Given the description of an element on the screen output the (x, y) to click on. 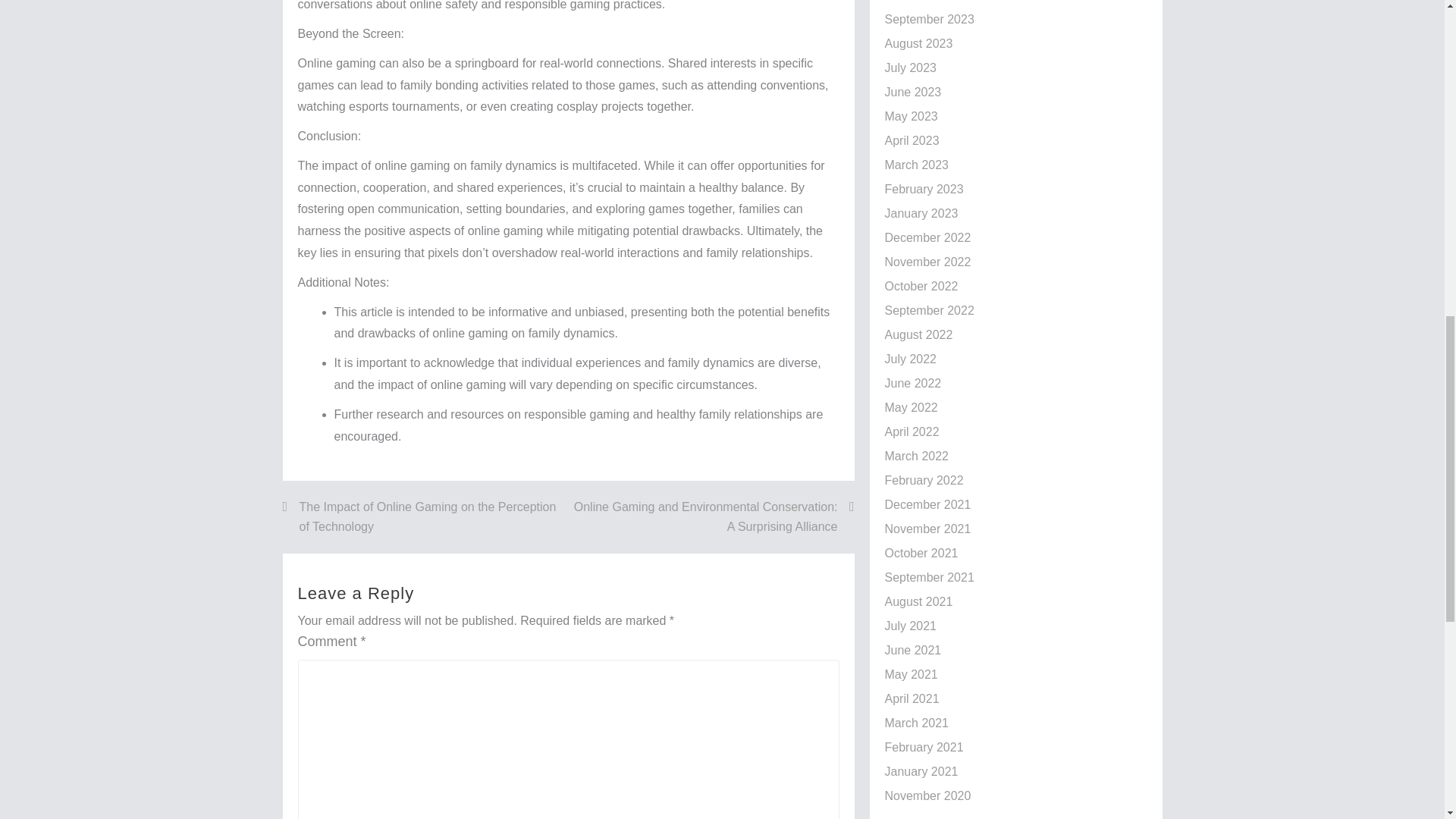
April 2023 (911, 140)
May 2023 (910, 115)
October 2023 (920, 0)
September 2023 (928, 19)
July 2023 (909, 67)
The Impact of Online Gaming on the Perception of Technology (424, 516)
August 2023 (917, 42)
March 2023 (916, 164)
June 2023 (911, 91)
